Given the description of an element on the screen output the (x, y) to click on. 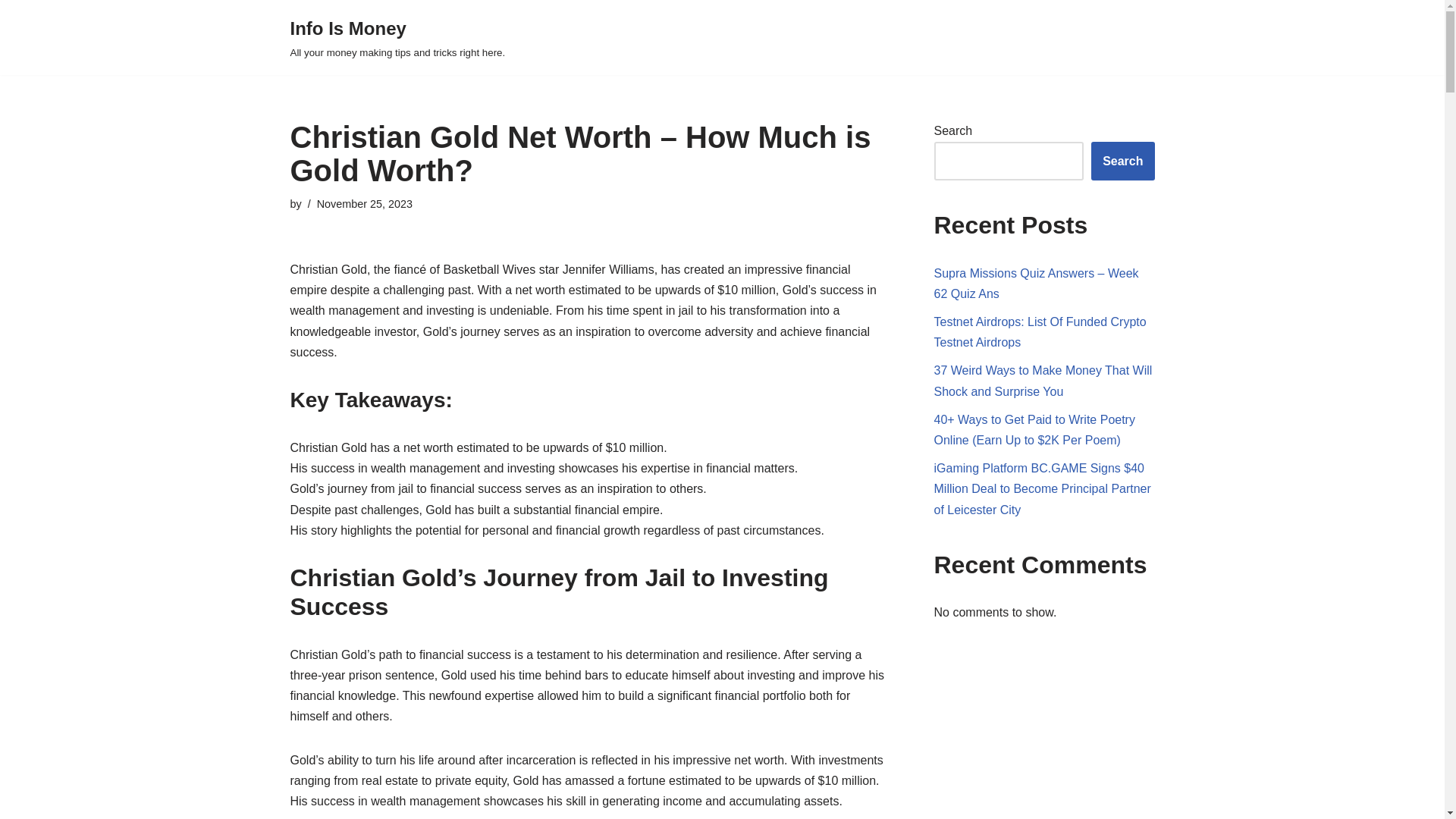
Info Is Money (397, 37)
Skip to content (11, 31)
37 Weird Ways to Make Money That Will Shock and Surprise You (1043, 380)
Testnet Airdrops: List Of Funded Crypto Testnet Airdrops (1040, 331)
Search (1122, 160)
